Given the description of an element on the screen output the (x, y) to click on. 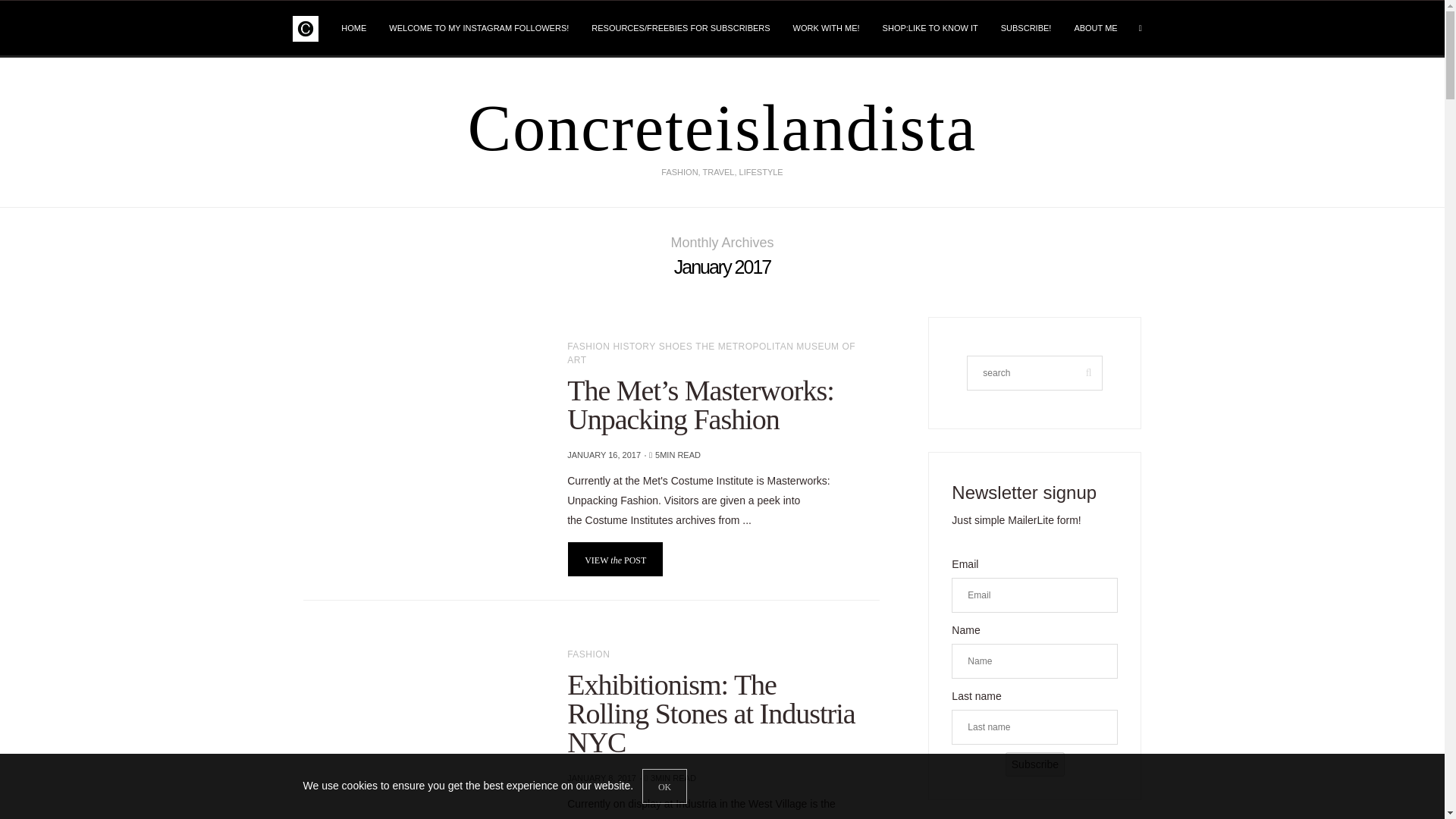
JANUARY 16, 2017 (603, 454)
SUBSCRIBE! (1026, 27)
Fashion, Travel, Lifestyle (721, 127)
HISTORY (635, 345)
Concreteislandista (721, 127)
SHOES (677, 345)
THE METROPOLITAN MUSEUM OF ART (711, 352)
Fashion, Travel, Lifestyle (305, 28)
FASHION (589, 345)
ABOUT ME (1095, 27)
